Given the description of an element on the screen output the (x, y) to click on. 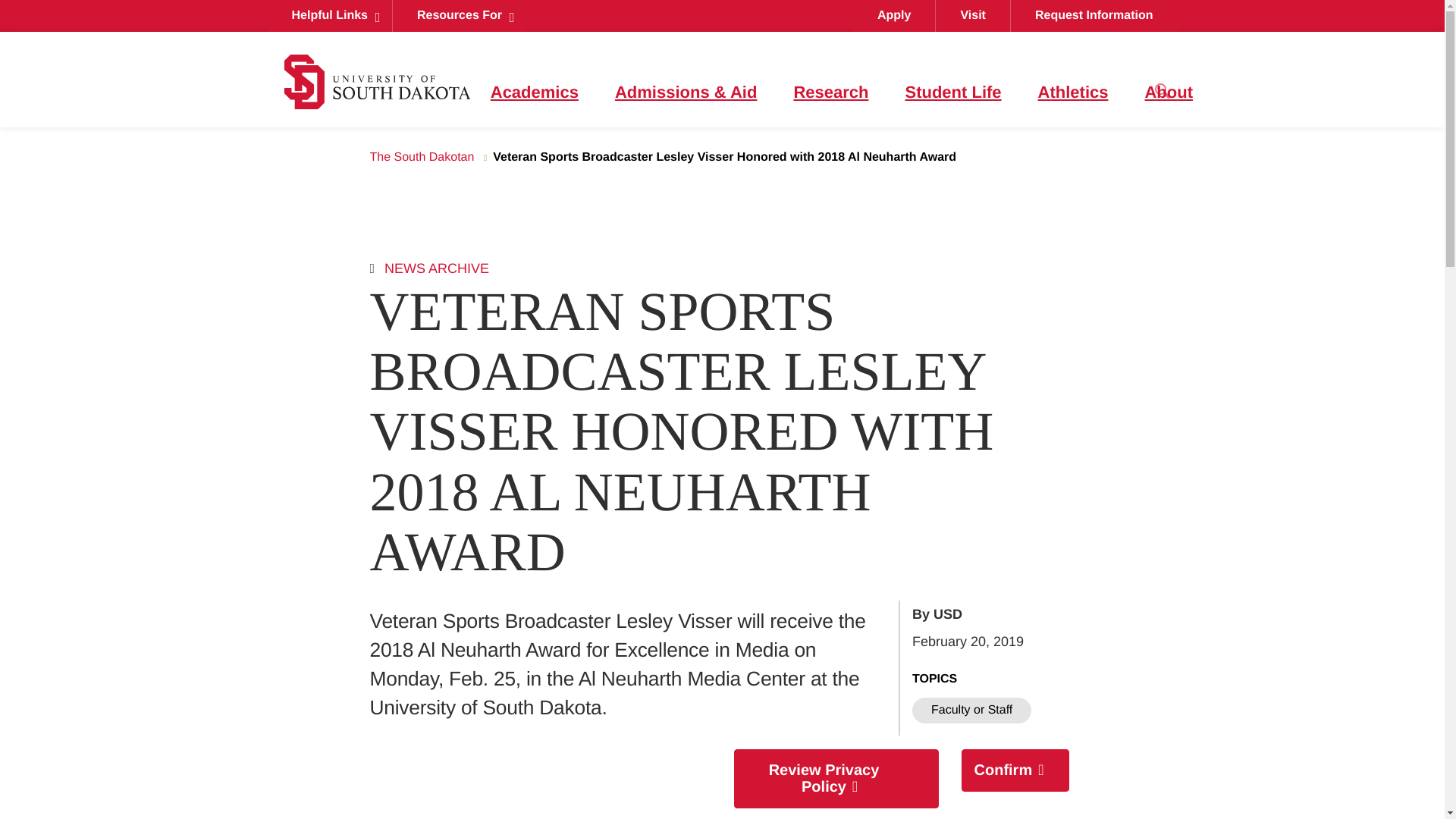
Research (830, 92)
Student Life (952, 92)
Academics (533, 92)
